Given the description of an element on the screen output the (x, y) to click on. 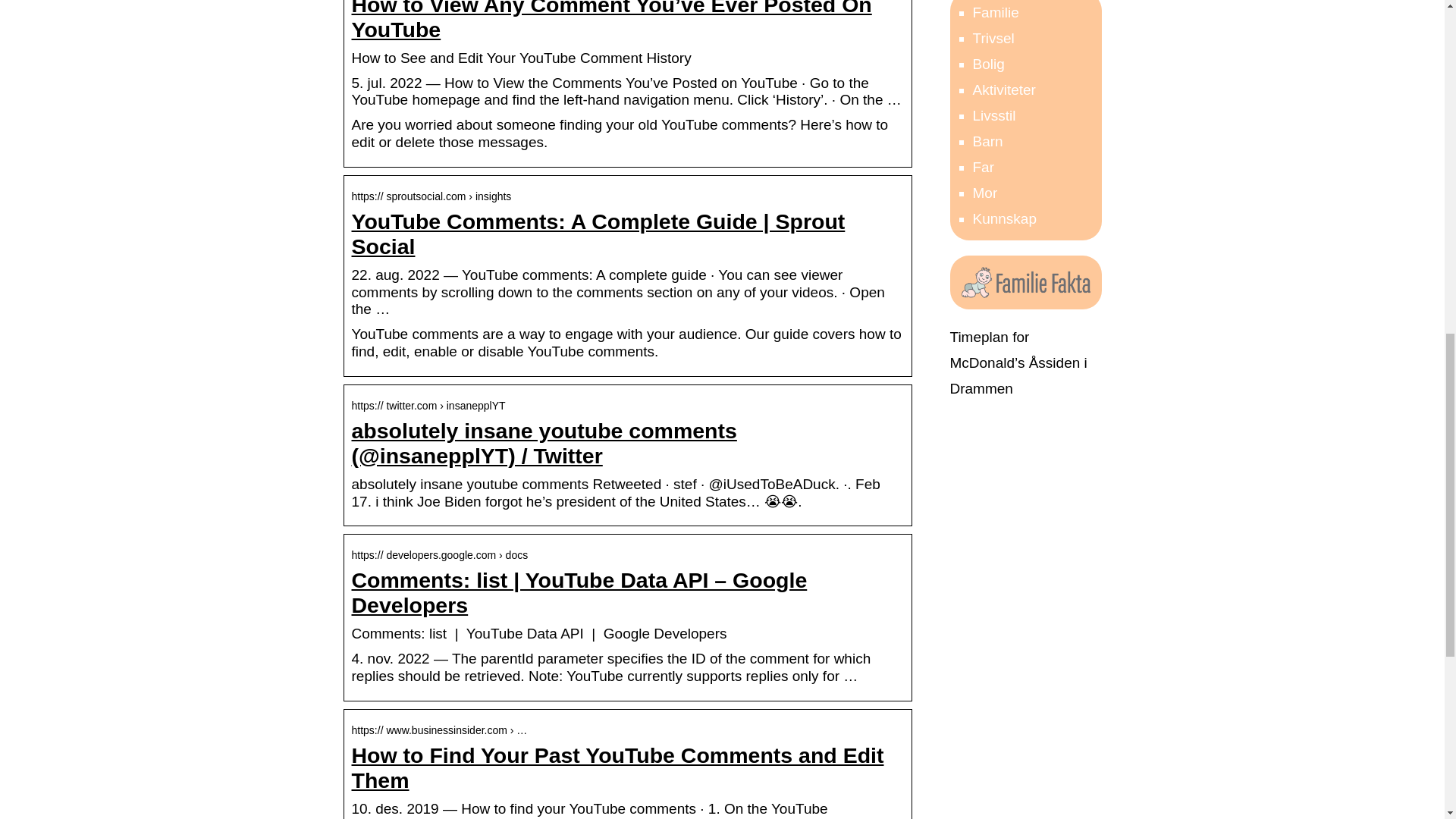
Kunnskap (1004, 218)
Aktiviteter (1003, 89)
Bolig (988, 64)
Livsstil (993, 115)
Mor (984, 192)
Far (983, 166)
Trivsel (992, 37)
Familie (994, 12)
Barn (987, 141)
